Given the description of an element on the screen output the (x, y) to click on. 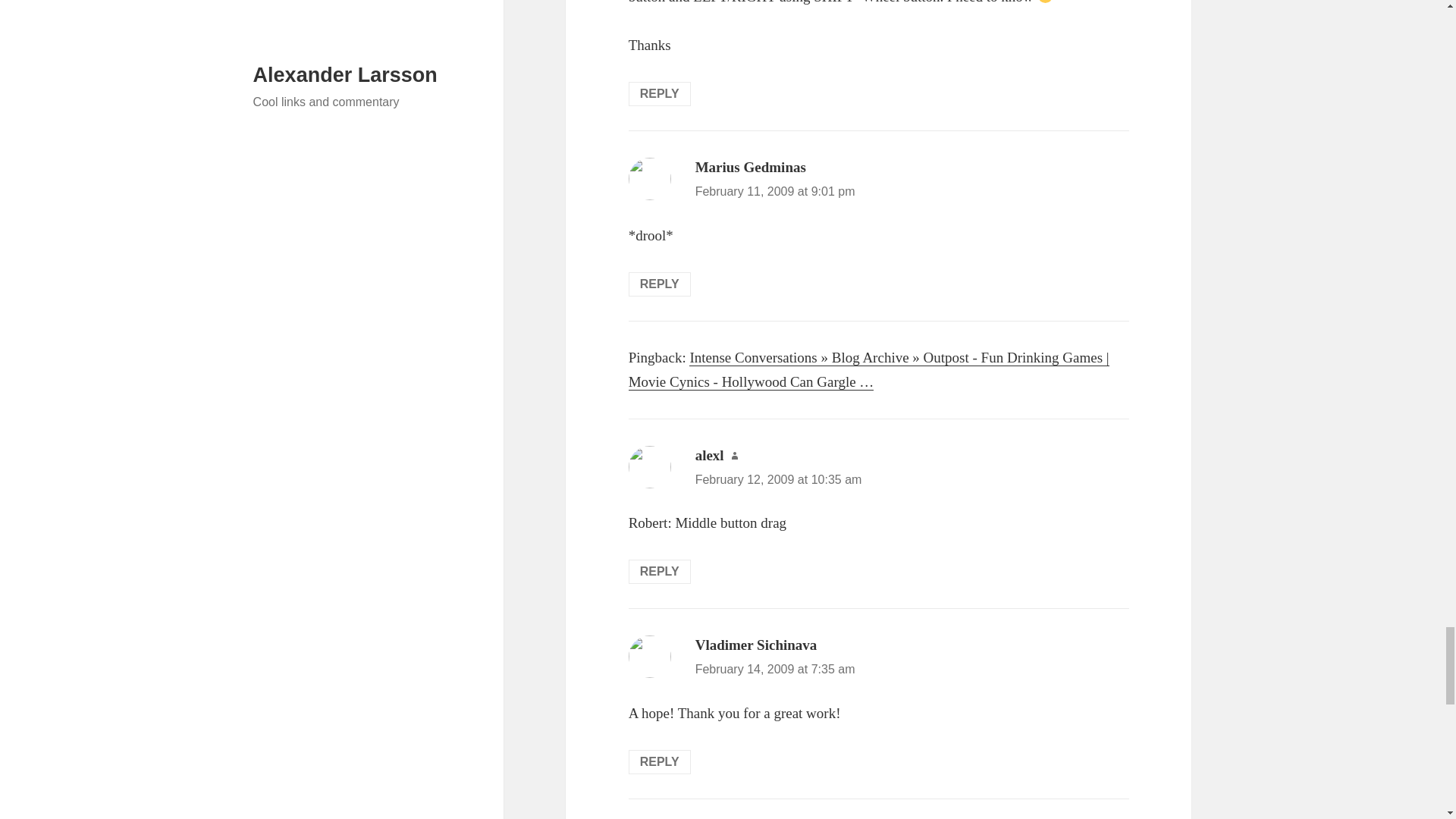
Marius Gedminas (750, 166)
alexl (709, 455)
REPLY (659, 283)
REPLY (659, 93)
February 11, 2009 at 9:01 pm (775, 191)
February 12, 2009 at 10:35 am (778, 479)
